Given the description of an element on the screen output the (x, y) to click on. 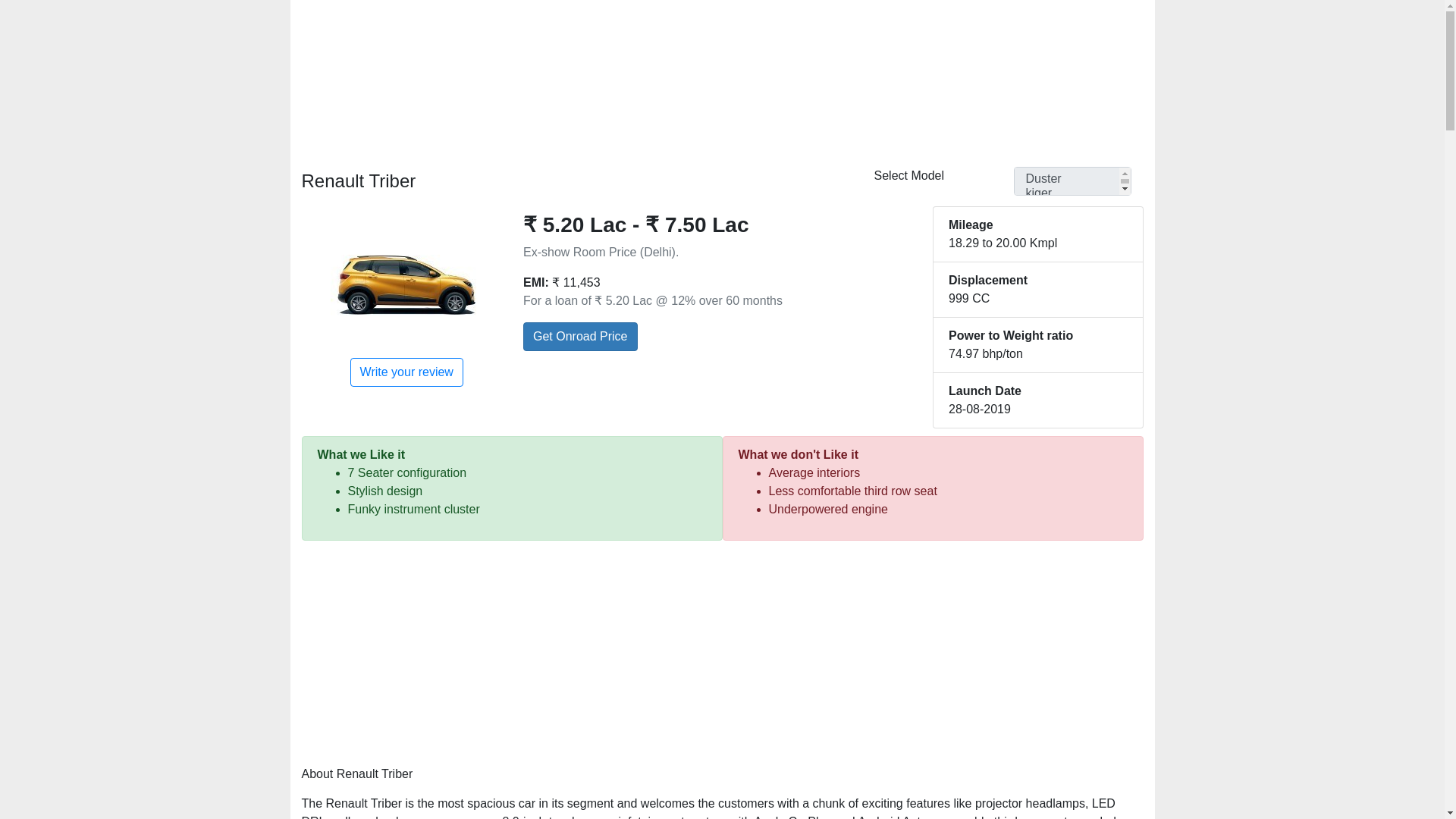
Write your review (406, 371)
Get Onroad Price (579, 336)
Advertisement (721, 655)
